Given the description of an element on the screen output the (x, y) to click on. 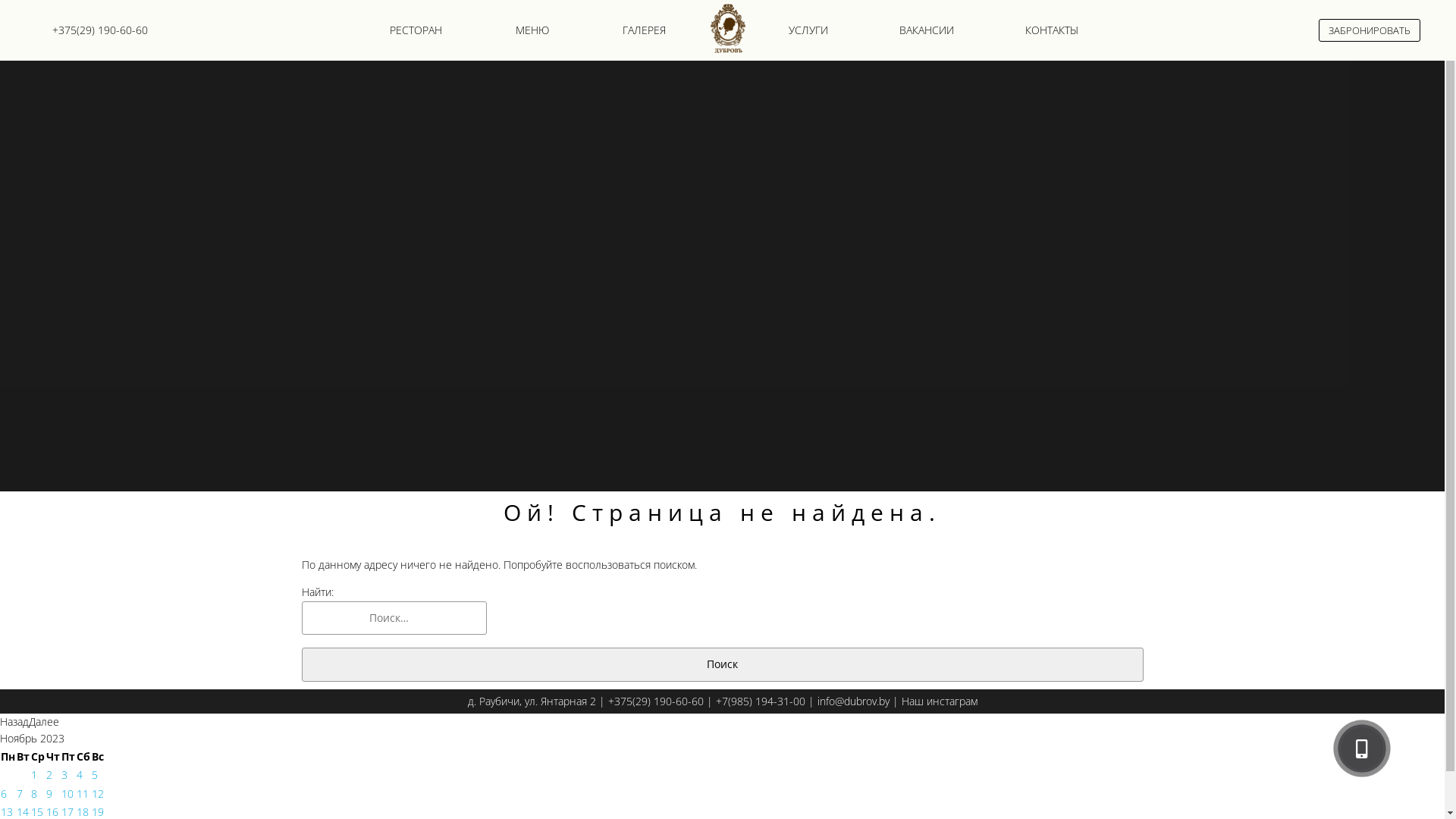
1 Element type: text (34, 774)
3 Element type: text (64, 774)
12 Element type: text (97, 793)
4 Element type: text (79, 774)
8 Element type: text (34, 793)
5 Element type: text (94, 774)
info@dubrov.by Element type: text (853, 700)
+375(29) 190-60-60 Element type: text (99, 29)
2 Element type: text (49, 774)
+7(985) 194-31-00 Element type: text (760, 700)
10 Element type: text (67, 793)
11 Element type: text (82, 793)
9 Element type: text (49, 793)
+375(29) 190-60-60 Element type: text (655, 700)
7 Element type: text (19, 793)
6 Element type: text (3, 793)
